Given the description of an element on the screen output the (x, y) to click on. 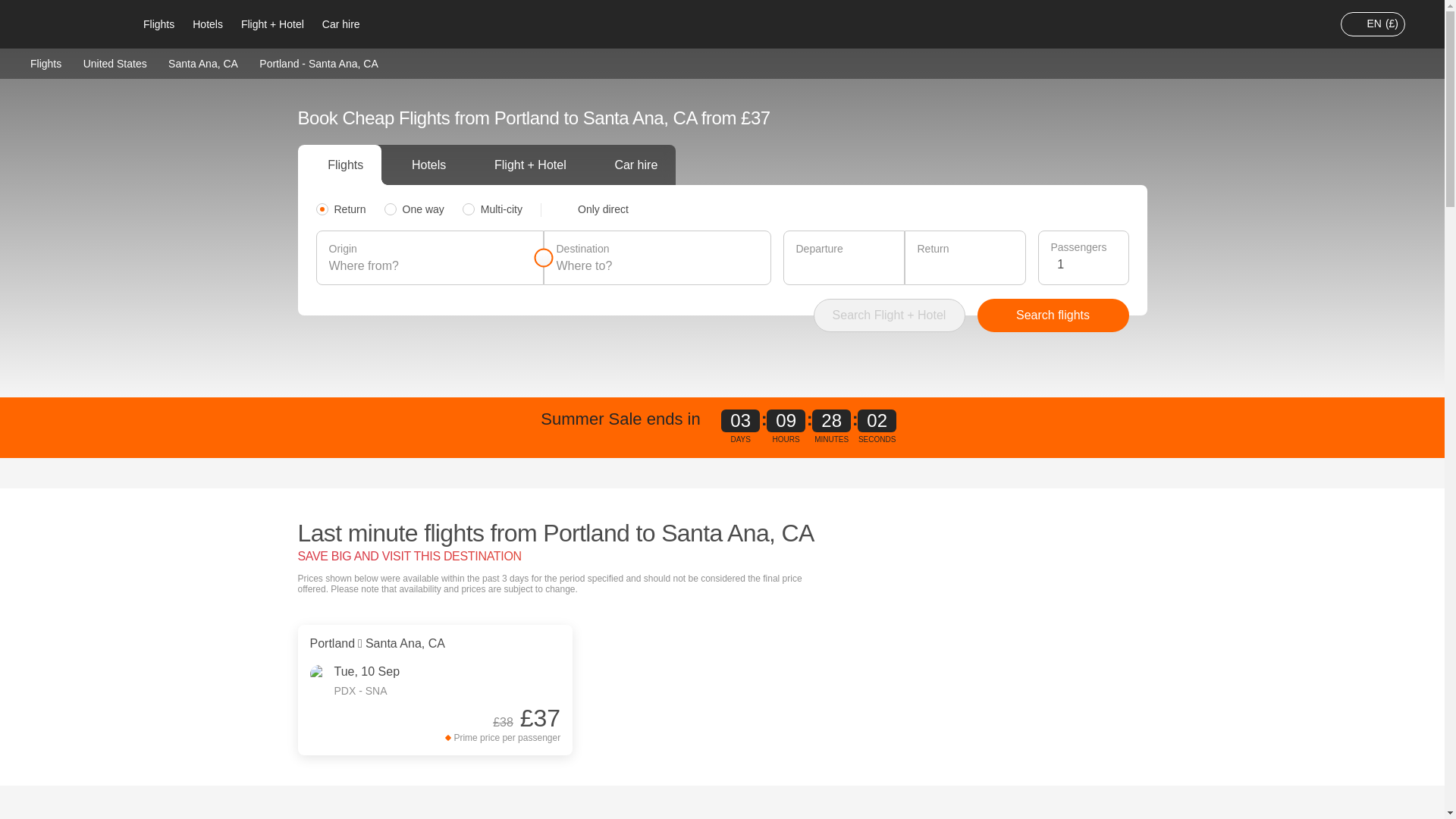
Car hire (341, 24)
Flights (45, 62)
1 (1086, 263)
Flights (158, 24)
Search flights (1052, 315)
United States (114, 62)
Portland - Santa Ana, CA (318, 63)
Hotels (207, 24)
Santa Ana, CA (203, 62)
